Given the description of an element on the screen output the (x, y) to click on. 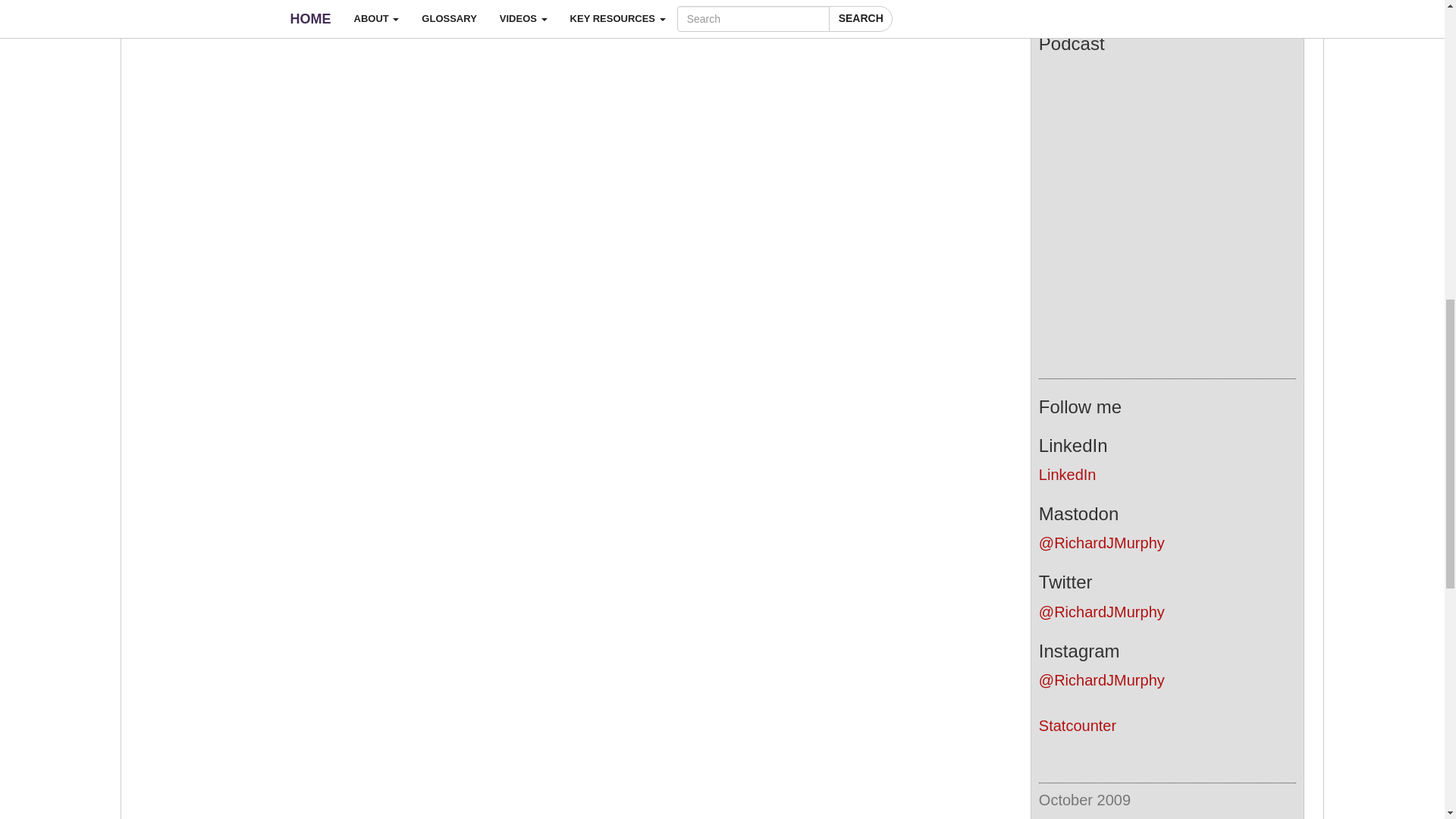
Statcounter (1077, 725)
Subscribe (1166, 4)
LinkedIn (1067, 474)
